Given the description of an element on the screen output the (x, y) to click on. 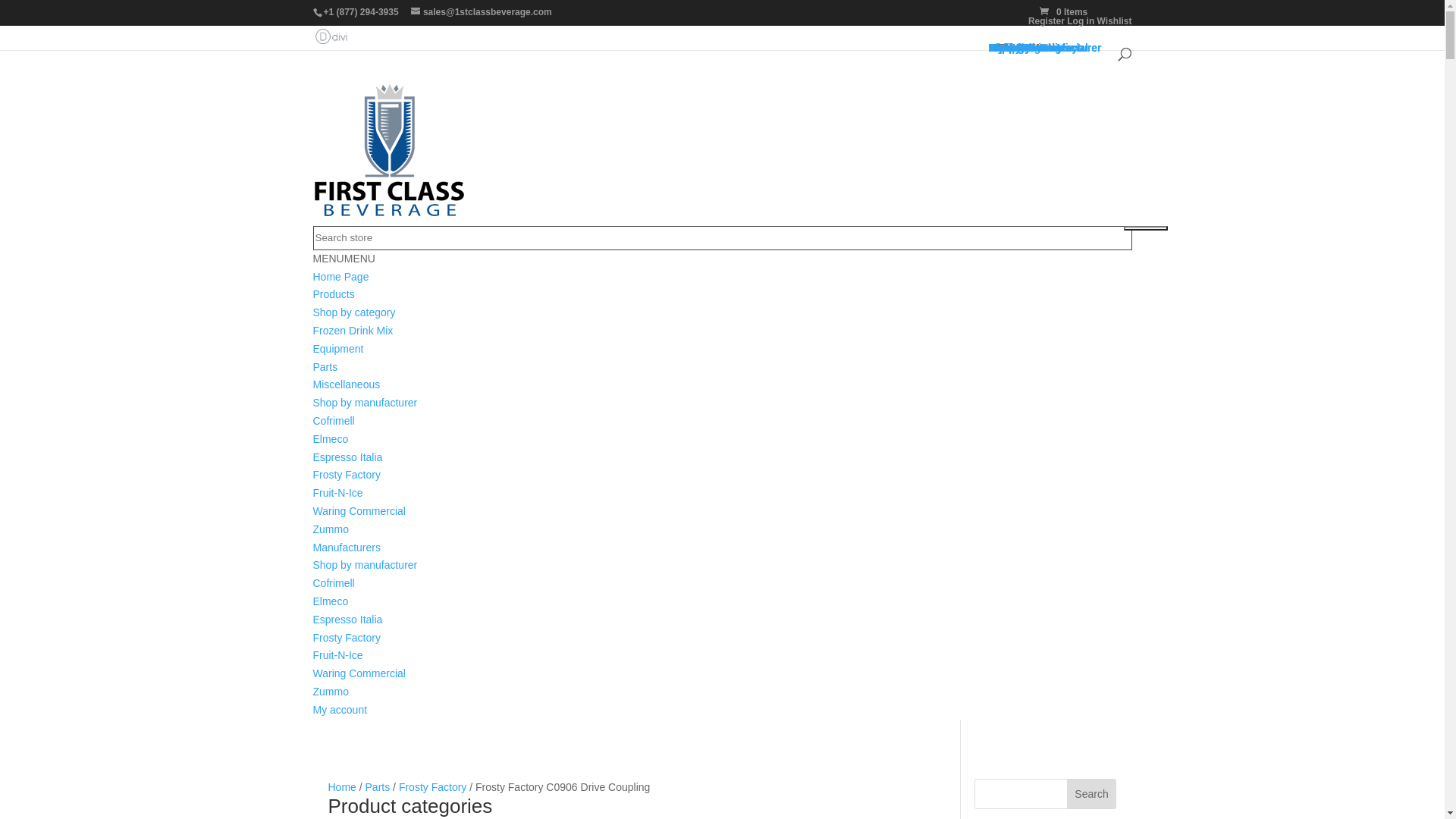
Espresso Italia Element type: text (347, 619)
Equipment Element type: text (337, 348)
Frozen Drink Mix Element type: text (352, 330)
Search Element type: text (1091, 793)
Zummo Element type: text (330, 529)
Products Element type: text (333, 294)
Waring Commercial Element type: text (358, 673)
Elmeco Element type: text (330, 439)
Cofrimell Element type: text (333, 583)
Home Page Element type: text (340, 276)
Shop by category Element type: text (353, 312)
Register Element type: text (1046, 20)
Zummo Element type: text (330, 691)
Fruit-N-Ice Element type: text (337, 492)
Shop by manufacturer Element type: text (364, 402)
Elmeco Element type: text (1007, 47)
Wishlist Element type: text (1114, 20)
Frosty Factory Element type: text (432, 787)
Parts Element type: text (377, 787)
Shop by category Element type: text (1032, 47)
Equipment Element type: text (1015, 47)
My account Element type: text (339, 709)
Miscellaneous Element type: text (345, 384)
Search Element type: text (1145, 227)
Cofrimell Element type: text (333, 420)
Log in Element type: text (1080, 20)
Espresso Italia Element type: text (1025, 47)
Elmeco Element type: text (330, 601)
Zummo Element type: text (1007, 47)
Frosty Factory Element type: text (1025, 47)
Products Element type: text (1011, 47)
sales@1stclassbeverage.com Element type: text (481, 11)
Frozen Drink Mix Element type: text (1031, 47)
Manufacturers Element type: text (345, 547)
Parts Element type: text (324, 366)
My account Element type: text (1017, 47)
Waring Commercial Element type: text (358, 511)
Espresso Italia Element type: text (347, 457)
Fruit-N-Ice Element type: text (337, 655)
Waring Commercial Element type: text (1038, 47)
Miscellaneous Element type: text (1024, 47)
Parts Element type: text (1001, 47)
Shop by manufacturer Element type: text (364, 564)
Home Page Element type: text (1017, 47)
Shop by manufacturer Element type: text (1044, 47)
Frosty Factory Element type: text (345, 474)
Fruit-N-Ice Element type: text (1014, 47)
0 Items Element type: text (1063, 11)
Home Element type: text (341, 787)
Frosty Factory Element type: text (345, 637)
